Given the description of an element on the screen output the (x, y) to click on. 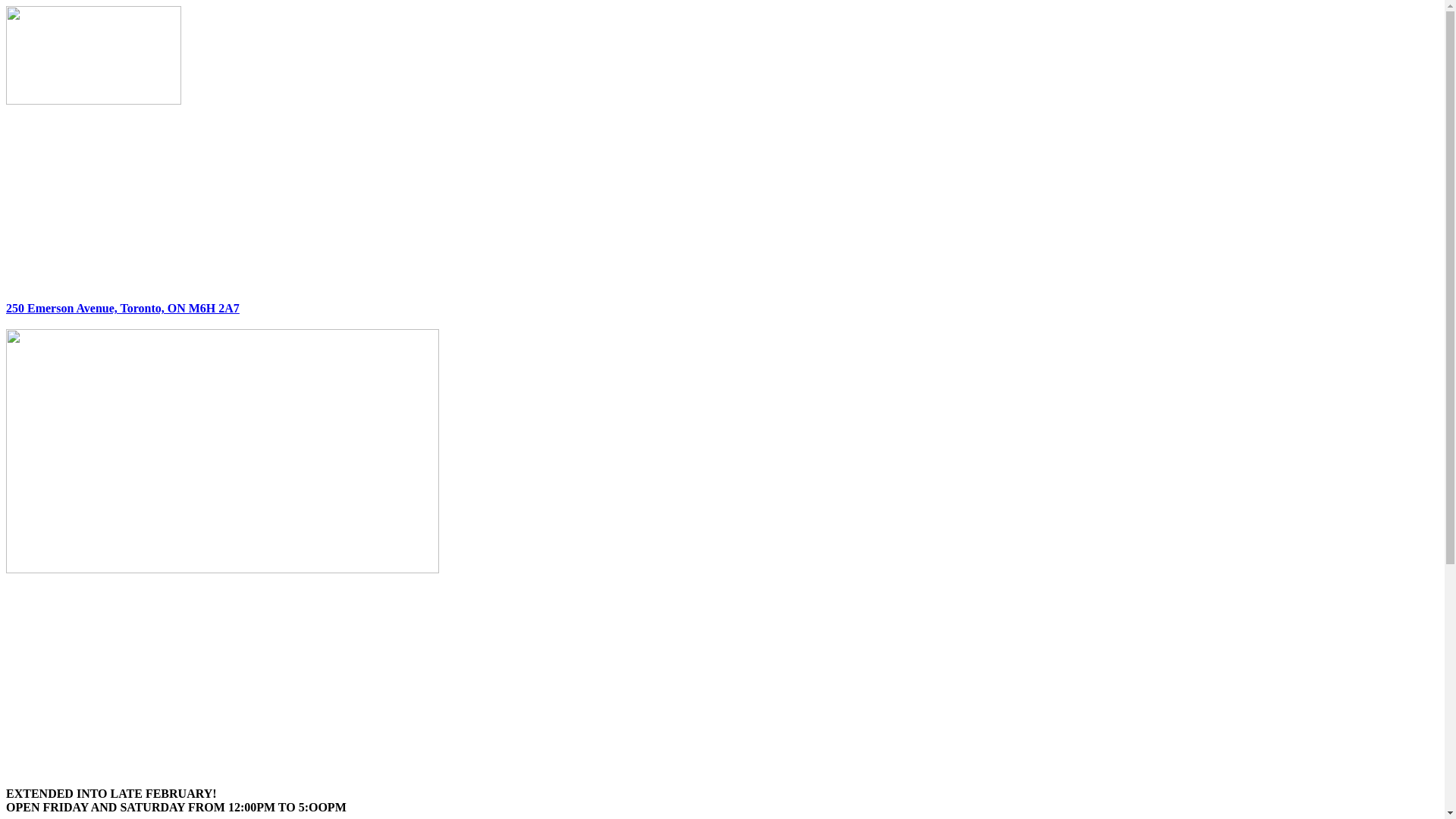
250 Emerson Avenue, Toronto, ON M6H 2A7 Element type: text (122, 307)
